Given the description of an element on the screen output the (x, y) to click on. 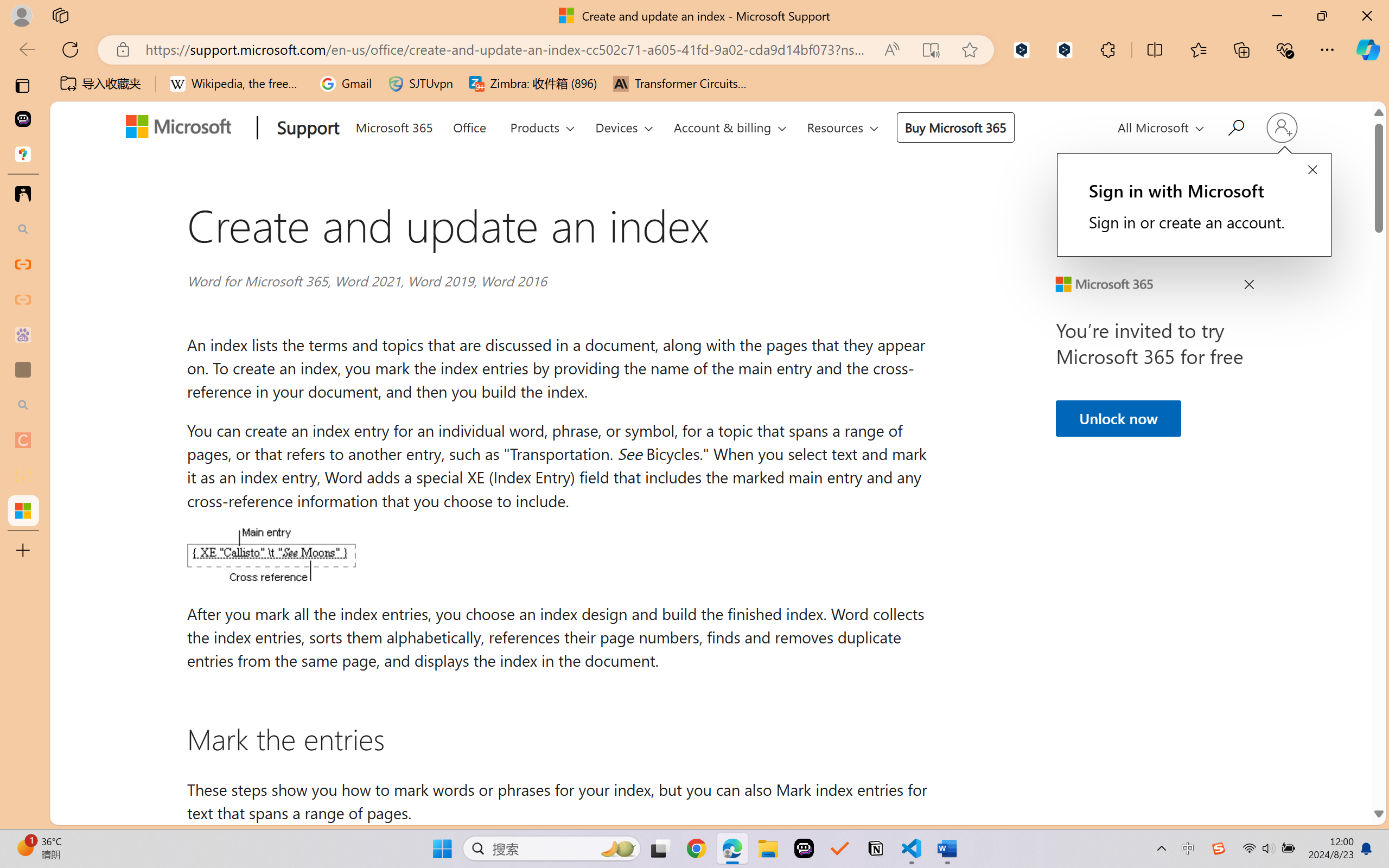
Buy Microsoft 365 (954, 126)
Wikipedia, the free encyclopedia (236, 83)
Buy Microsoft 365 (954, 127)
Copilot (Ctrl+Shift+.) (1368, 49)
Office (469, 125)
